Given the description of an element on the screen output the (x, y) to click on. 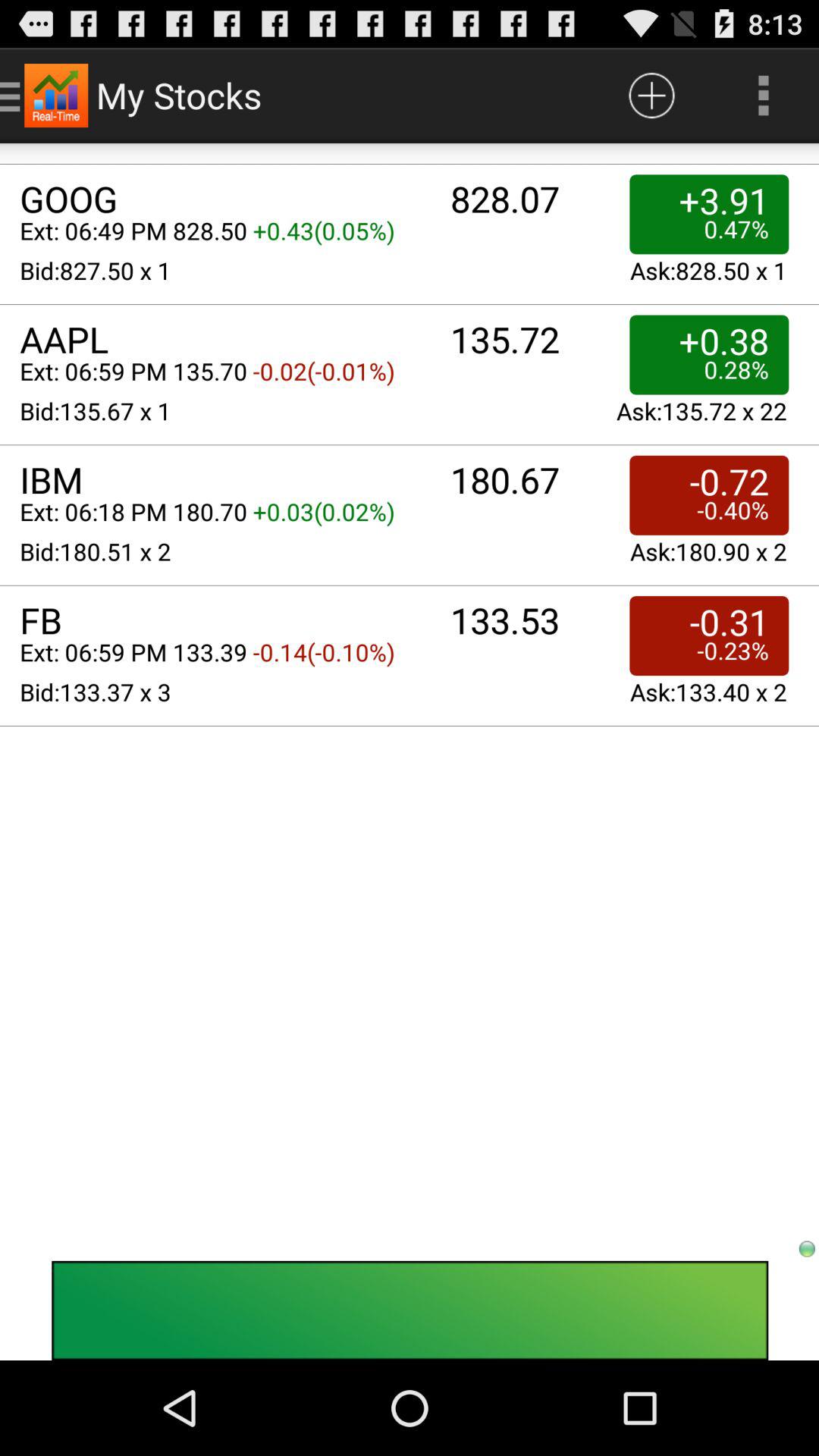
add listing (651, 95)
